Given the description of an element on the screen output the (x, y) to click on. 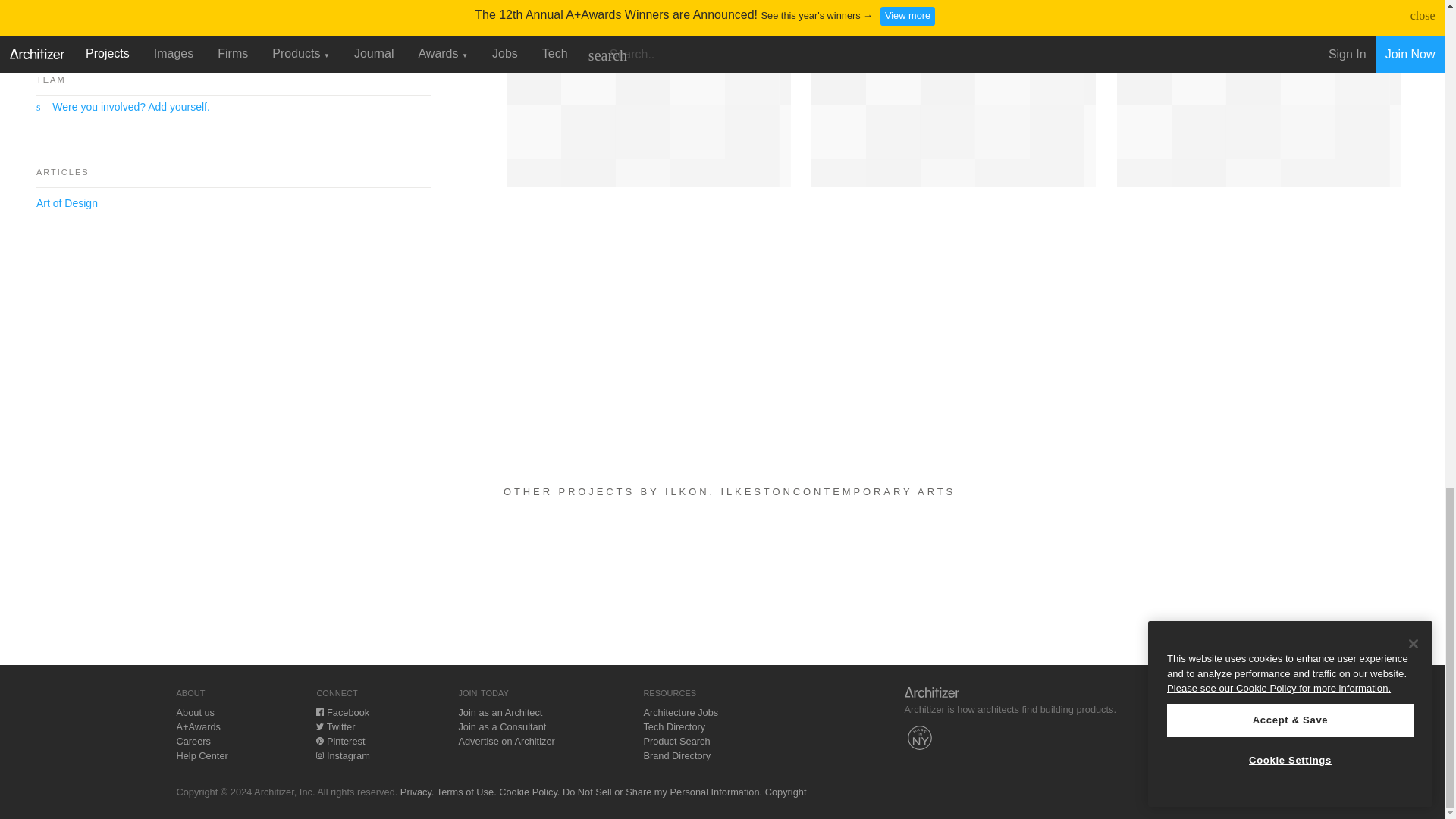
Made in New York icon (919, 737)
Facebook (342, 712)
Instagram (342, 755)
Architecture Jobs (680, 712)
Advertise on Architizer (506, 740)
Facebook icon (319, 711)
About us (195, 712)
Join as an Architect (499, 712)
Brand Directory (676, 755)
Twitter icon (319, 726)
